Given the description of an element on the screen output the (x, y) to click on. 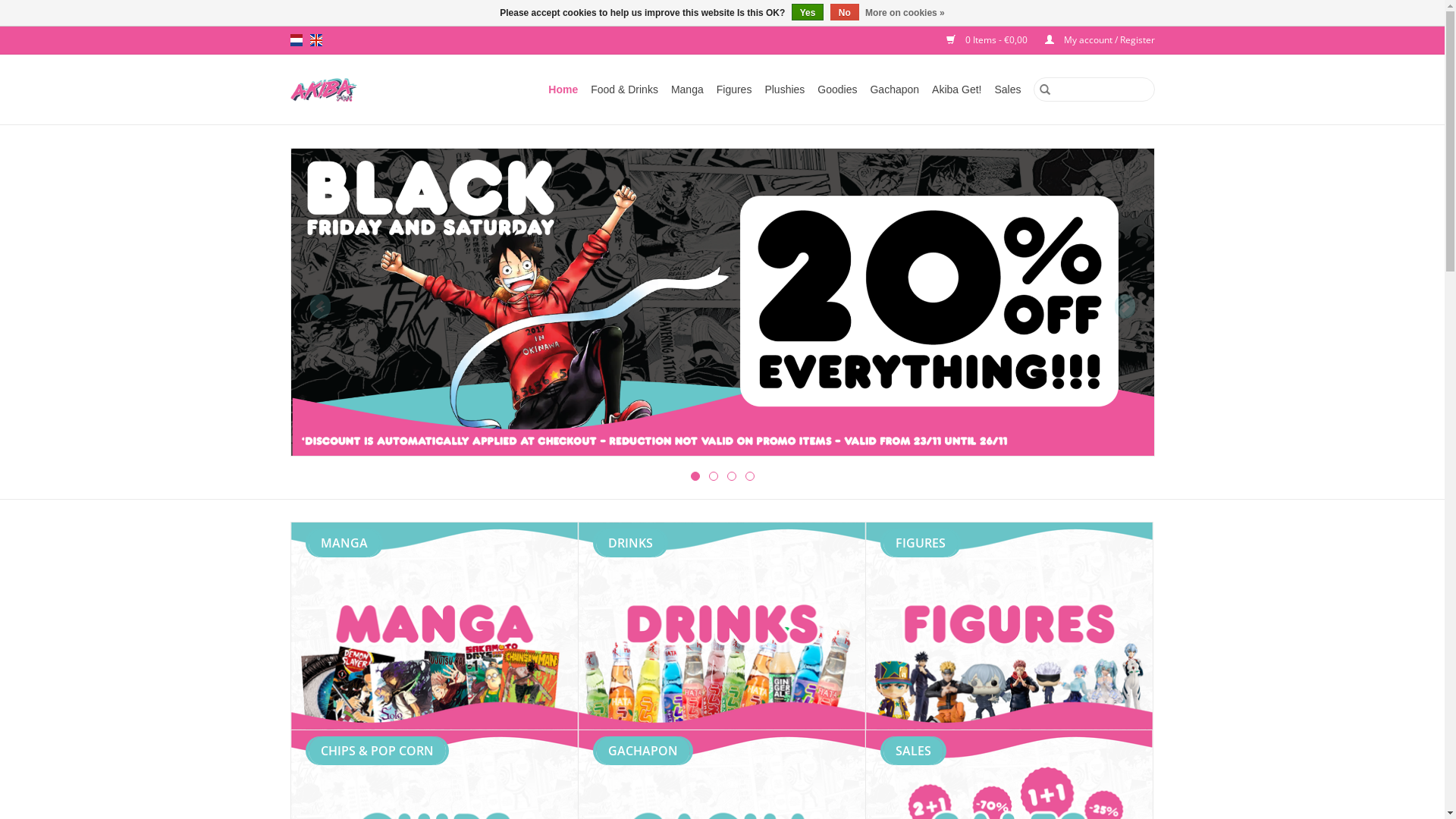
FIGURES Element type: text (1009, 626)
Akiba - Your favorite candy, otaku & manga shop Element type: hover (331, 89)
nl Element type: text (295, 40)
Akiba Get! Element type: text (956, 89)
4 Element type: text (748, 475)
Genshin Impact Element type: hover (722, 299)
1 Element type: text (694, 475)
en Element type: text (315, 40)
MANGA Element type: text (434, 626)
3 Element type: text (730, 475)
DRINKS Element type: text (720, 626)
Manga Element type: hover (434, 626)
Previous Element type: hover (319, 306)
No Element type: text (844, 11)
Home Element type: text (562, 89)
2 Element type: text (712, 475)
Drinks Element type: hover (720, 626)
Plushies Element type: text (784, 89)
Next Element type: hover (1124, 306)
Gachapon Element type: text (894, 89)
Figures Element type: text (734, 89)
Goodies Element type: text (836, 89)
My account / Register Element type: text (1091, 39)
Search Element type: hover (1043, 89)
Sales Element type: text (1007, 89)
Figures Element type: hover (1009, 626)
Yes Element type: text (807, 11)
Manga Element type: text (687, 89)
Food & Drinks Element type: text (624, 89)
